Given the description of an element on the screen output the (x, y) to click on. 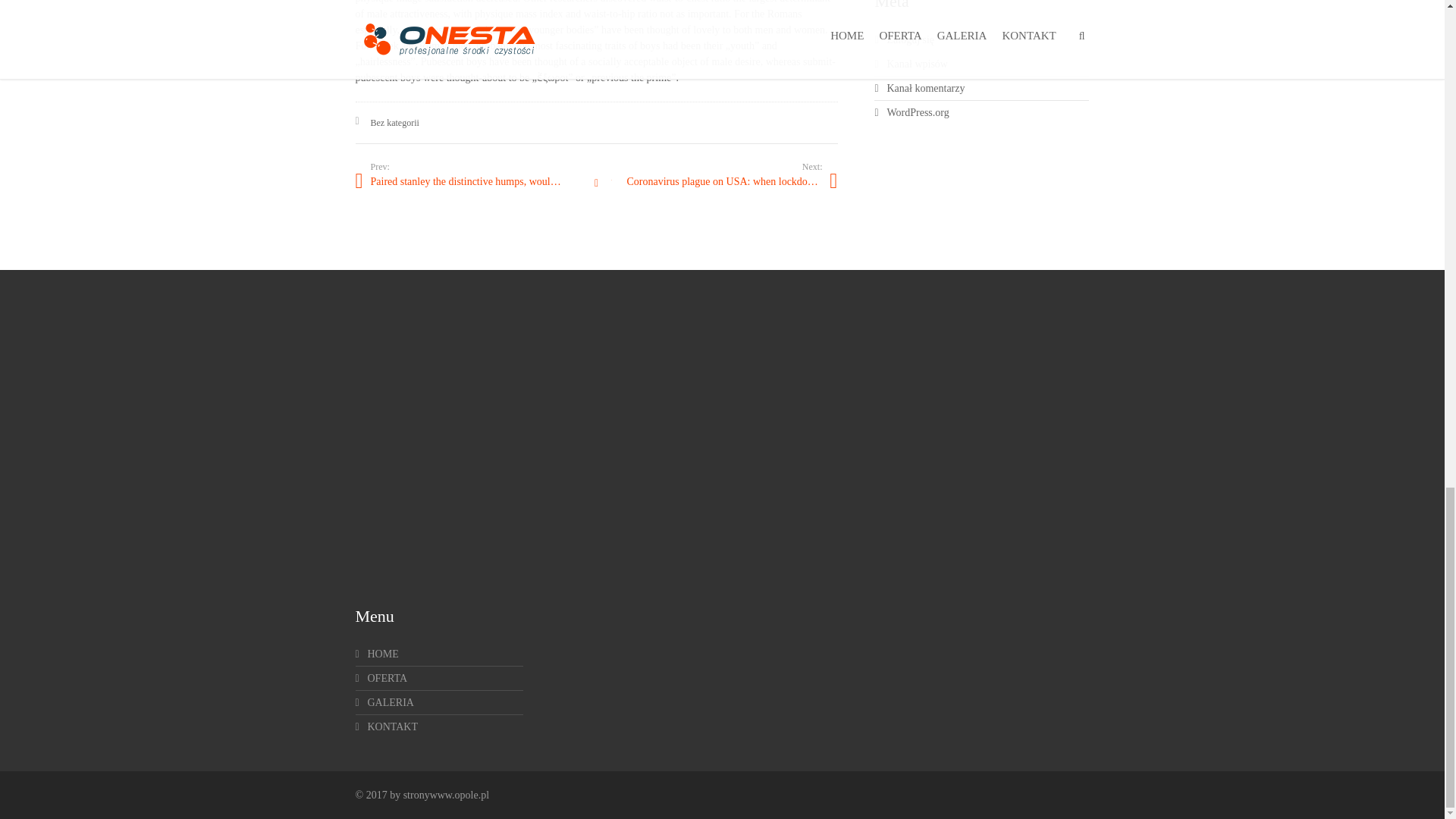
Wszystkie wpisy (595, 183)
Coronavirus plague on USA: when lockdown will be cancelled? (716, 181)
See all entries (595, 183)
Bez kategorii (394, 122)
